Given the description of an element on the screen output the (x, y) to click on. 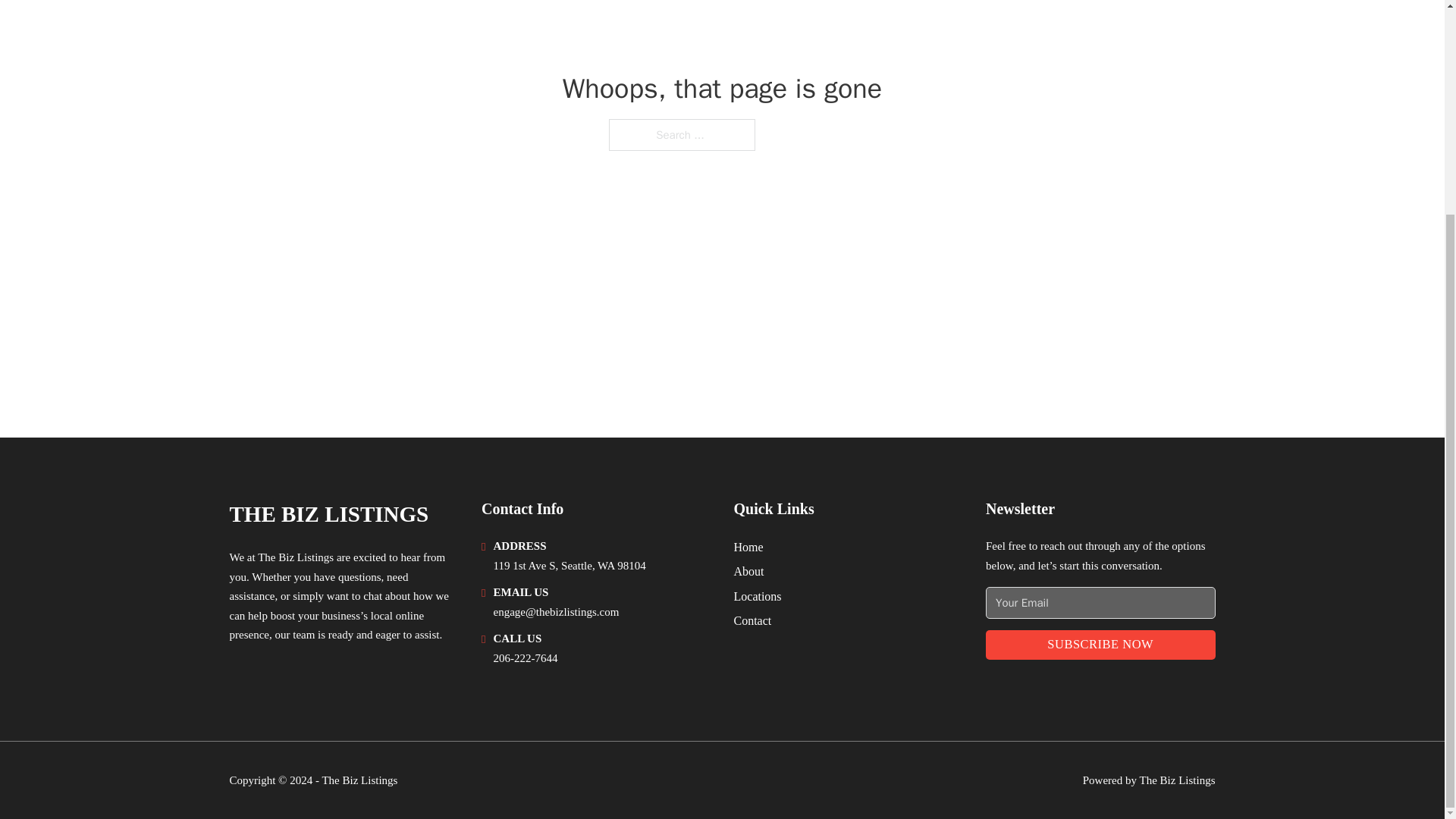
SUBSCRIBE NOW (1100, 644)
About (748, 571)
Locations (757, 596)
206-222-7644 (525, 657)
Contact (752, 620)
THE BIZ LISTINGS (328, 514)
Home (747, 547)
